Given the description of an element on the screen output the (x, y) to click on. 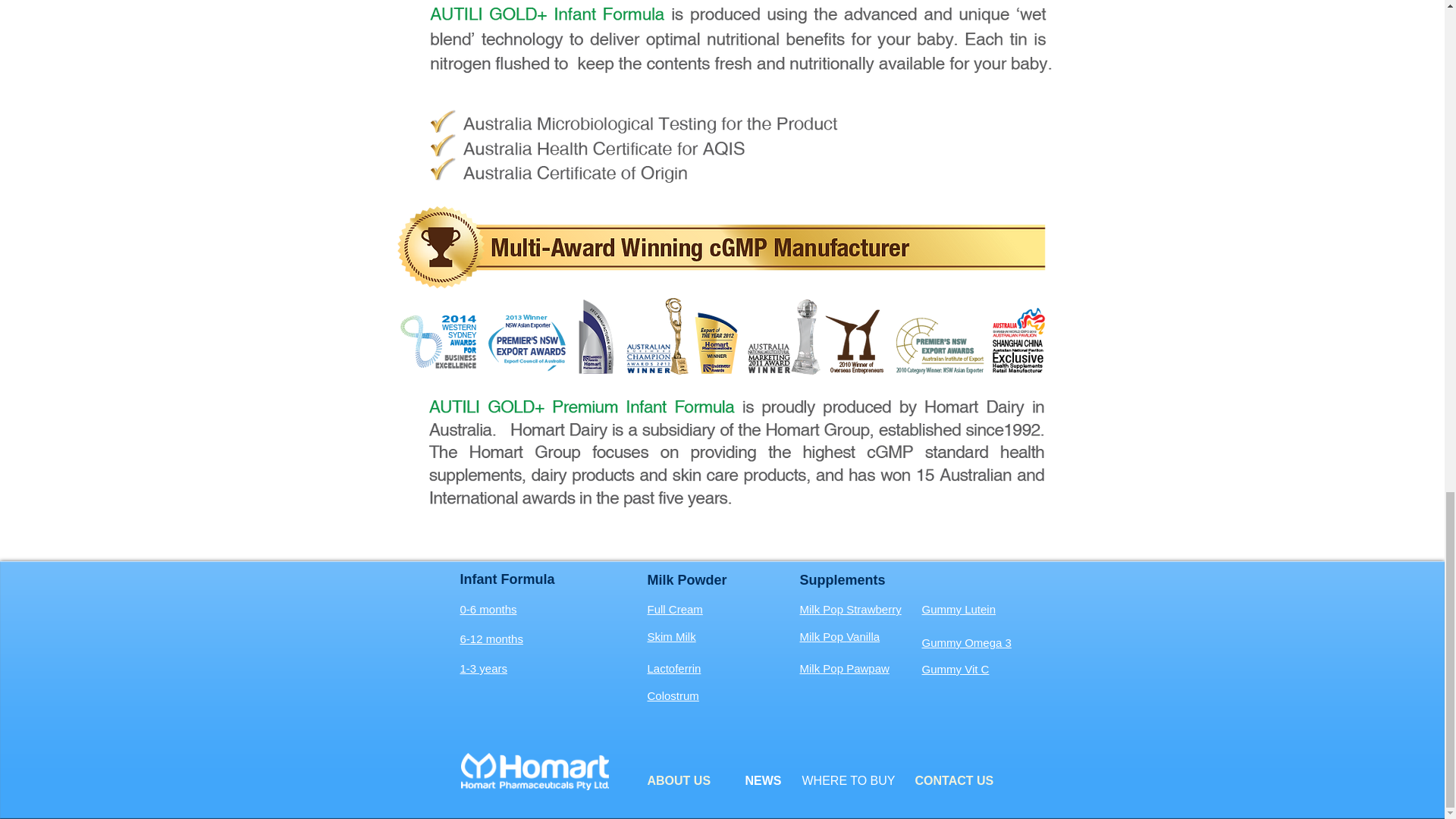
Infant Formula (507, 579)
Homart Dairy logo.png (534, 771)
0-6 months (488, 608)
6-12 months (491, 638)
